Given the description of an element on the screen output the (x, y) to click on. 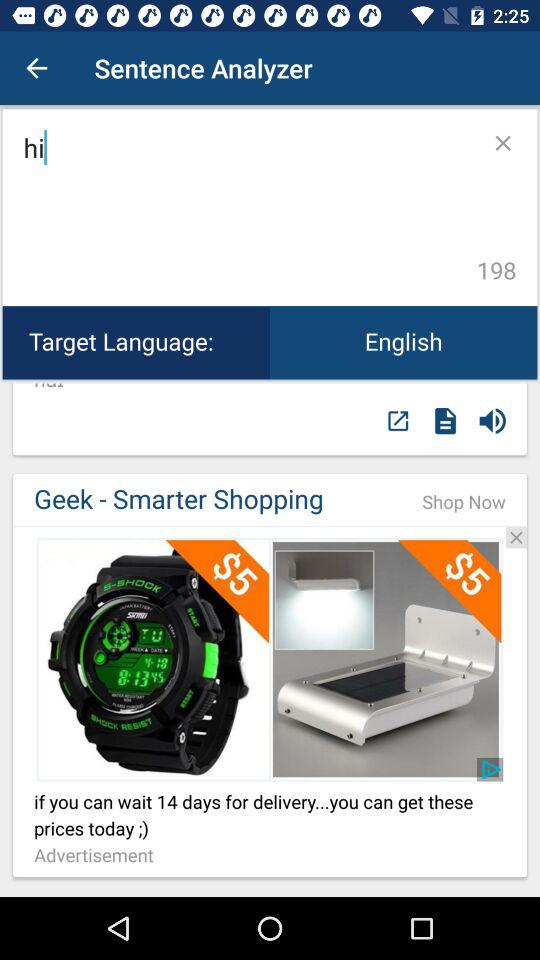
tap geek - smarter shopping icon (207, 499)
